Given the description of an element on the screen output the (x, y) to click on. 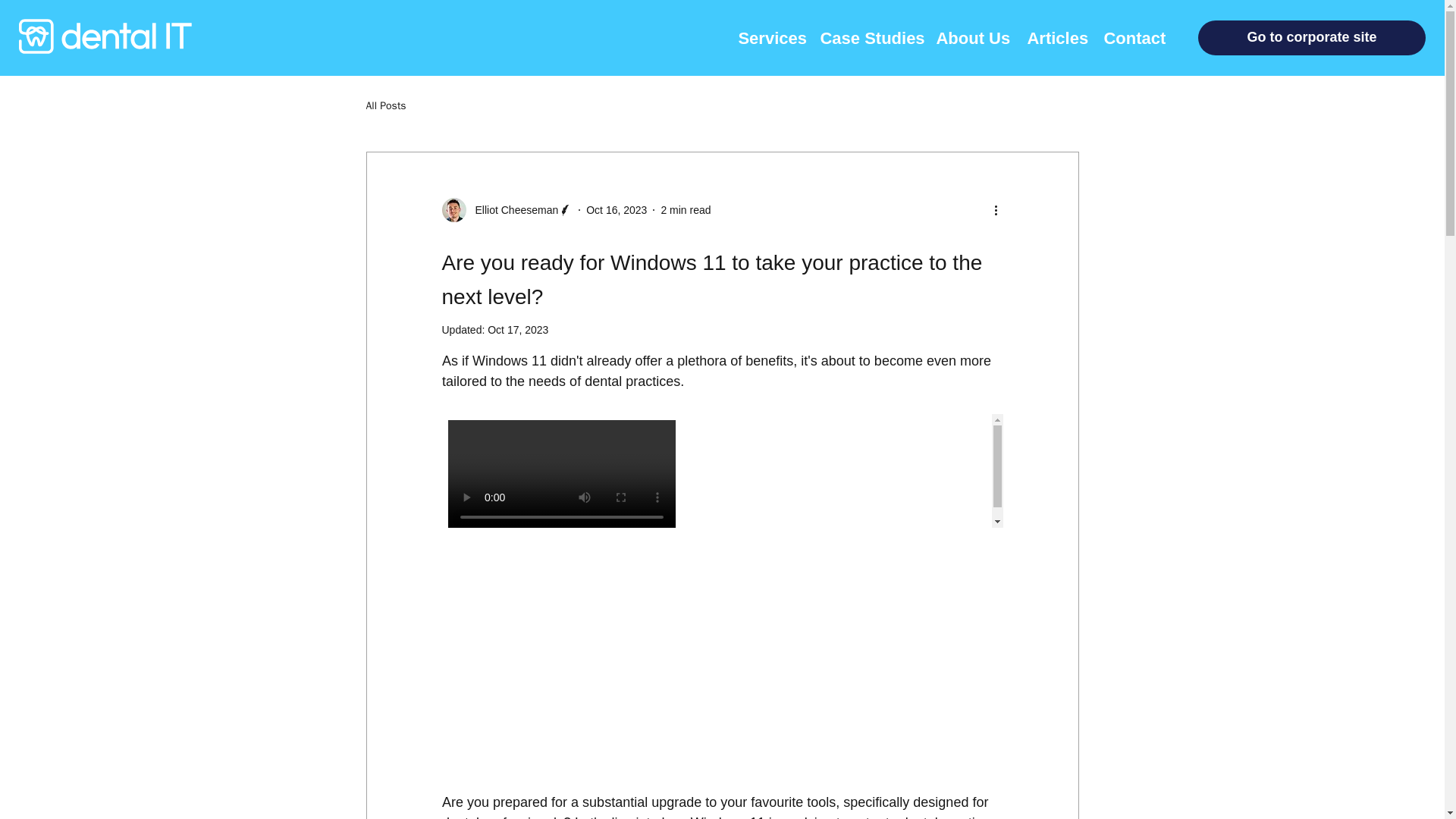
Articles (1053, 38)
Go to corporate site (1311, 37)
Oct 16, 2023 (616, 209)
Contact (1132, 38)
About Us (969, 38)
Elliot Cheeseman (511, 209)
Case Studies (866, 38)
2 min read (685, 209)
ricos-video (722, 470)
Oct 17, 2023 (517, 329)
Services (767, 38)
All Posts (385, 106)
